Given the description of an element on the screen output the (x, y) to click on. 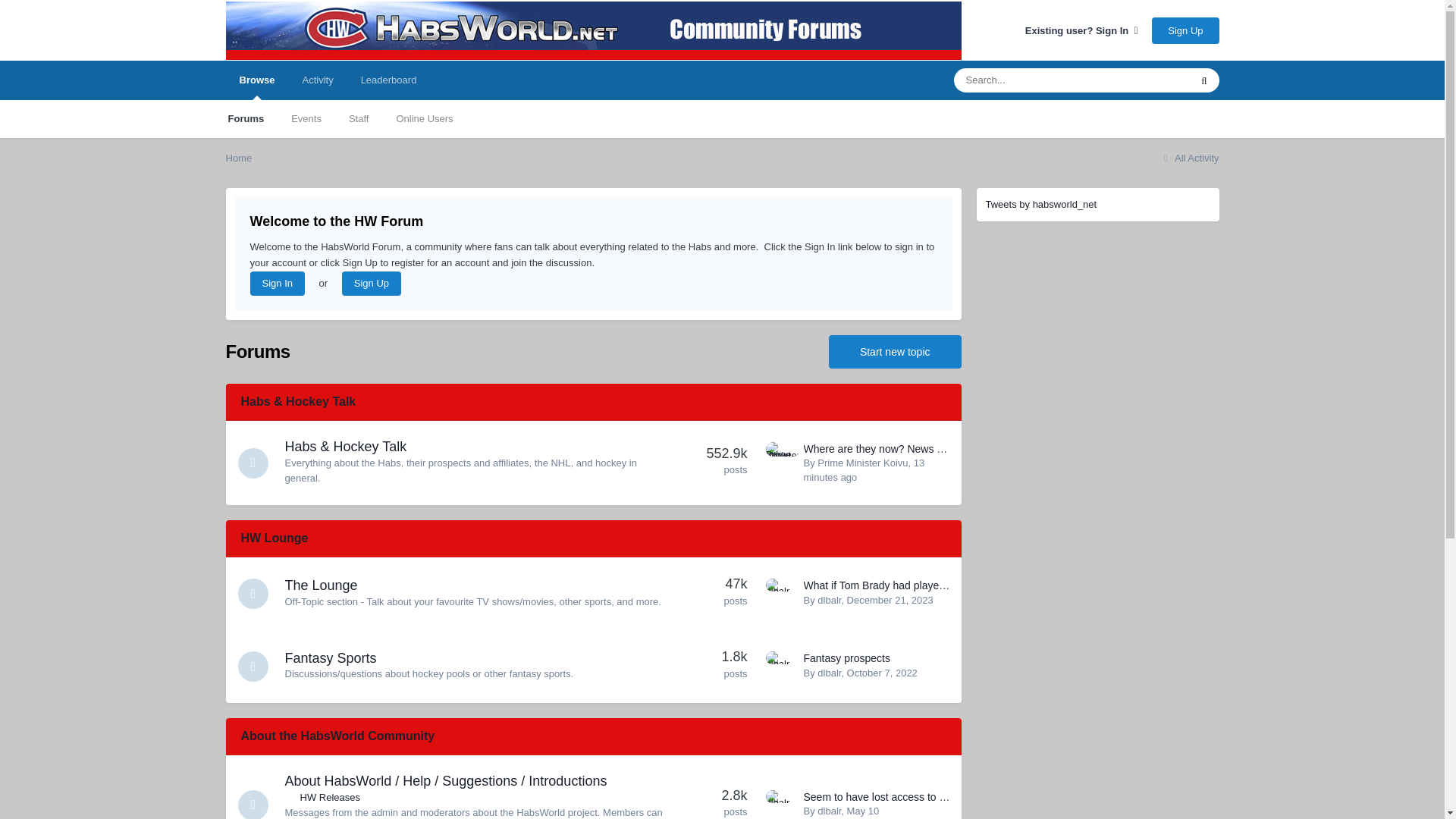
What if Tom Brady had played baseball - for the Expos (931, 585)
Browse (256, 79)
Activity (317, 79)
All Activity (1188, 157)
13 minutes ago (863, 469)
Sign In (277, 283)
Where are they now? News on past Habs prospects and players (954, 449)
Home (238, 157)
Prime Minister Koivu (861, 462)
Online Users (423, 118)
